Given the description of an element on the screen output the (x, y) to click on. 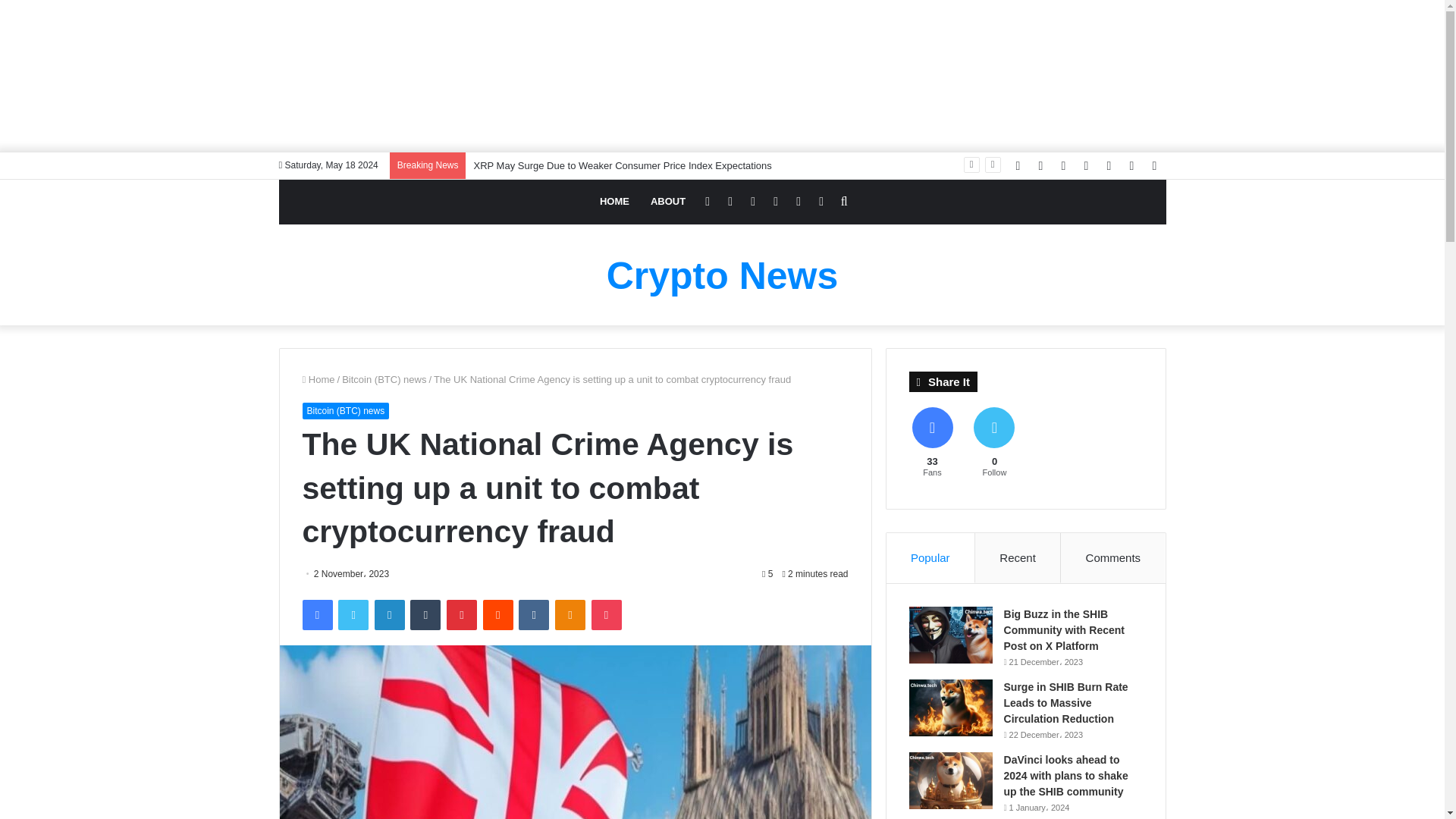
Home (317, 378)
LinkedIn (389, 614)
Odnoklassniki (569, 614)
Crypto News (722, 275)
HOME (614, 201)
Pocket (606, 614)
Pinterest (461, 614)
Twitter (352, 614)
Odnoklassniki (569, 614)
Facebook (316, 614)
Tumblr (425, 614)
ABOUT (667, 201)
Twitter (352, 614)
